Given the description of an element on the screen output the (x, y) to click on. 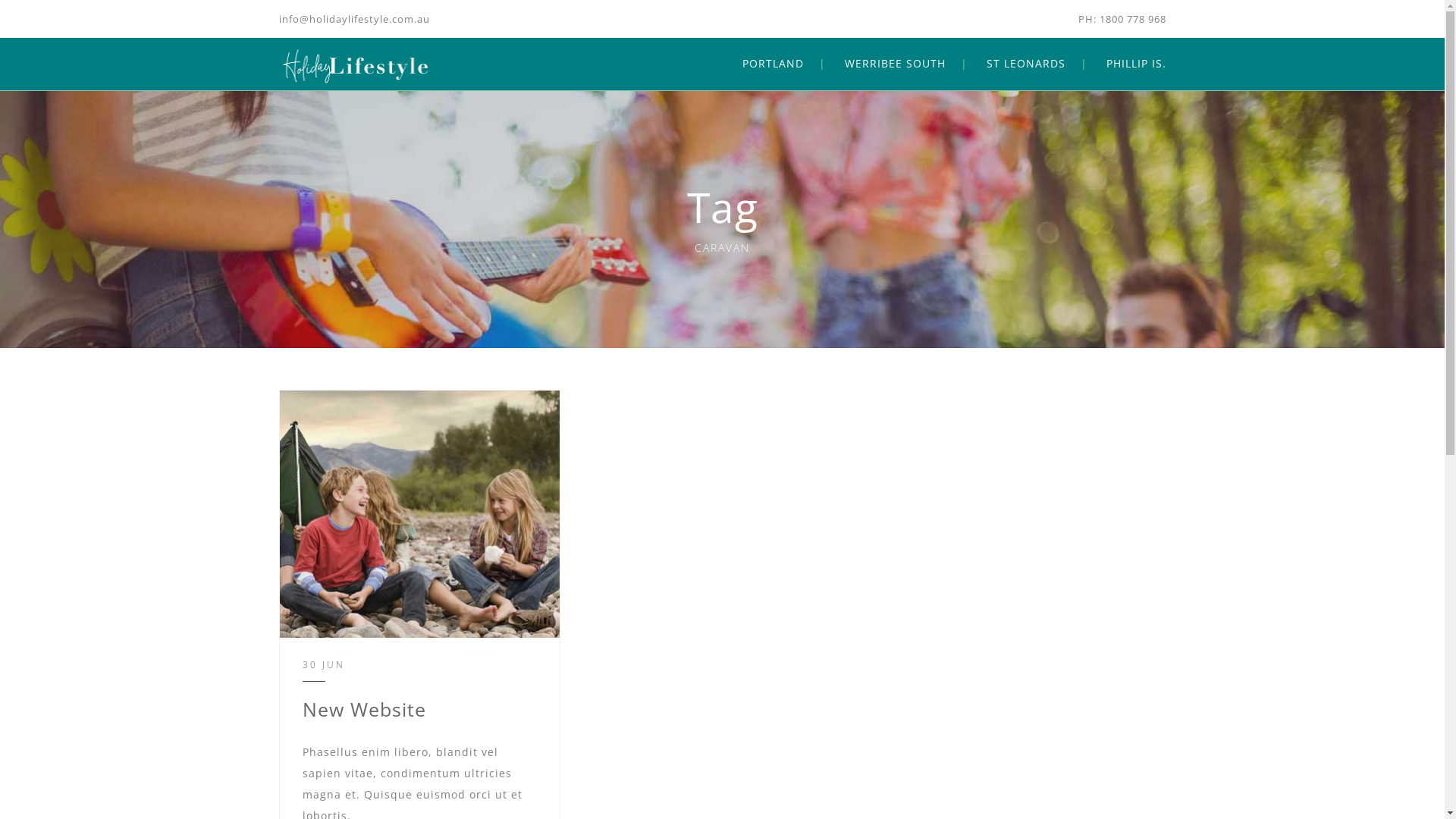
PORTLAND Element type: text (772, 63)
ST LEONARDS Element type: text (1024, 63)
PH: 1800 778 968 Element type: text (1122, 18)
PHILLIP IS. Element type: text (1135, 63)
WERRIBEE SOUTH Element type: text (894, 63)
info@holidaylifestyle.com.au Element type: text (354, 18)
